Given the description of an element on the screen output the (x, y) to click on. 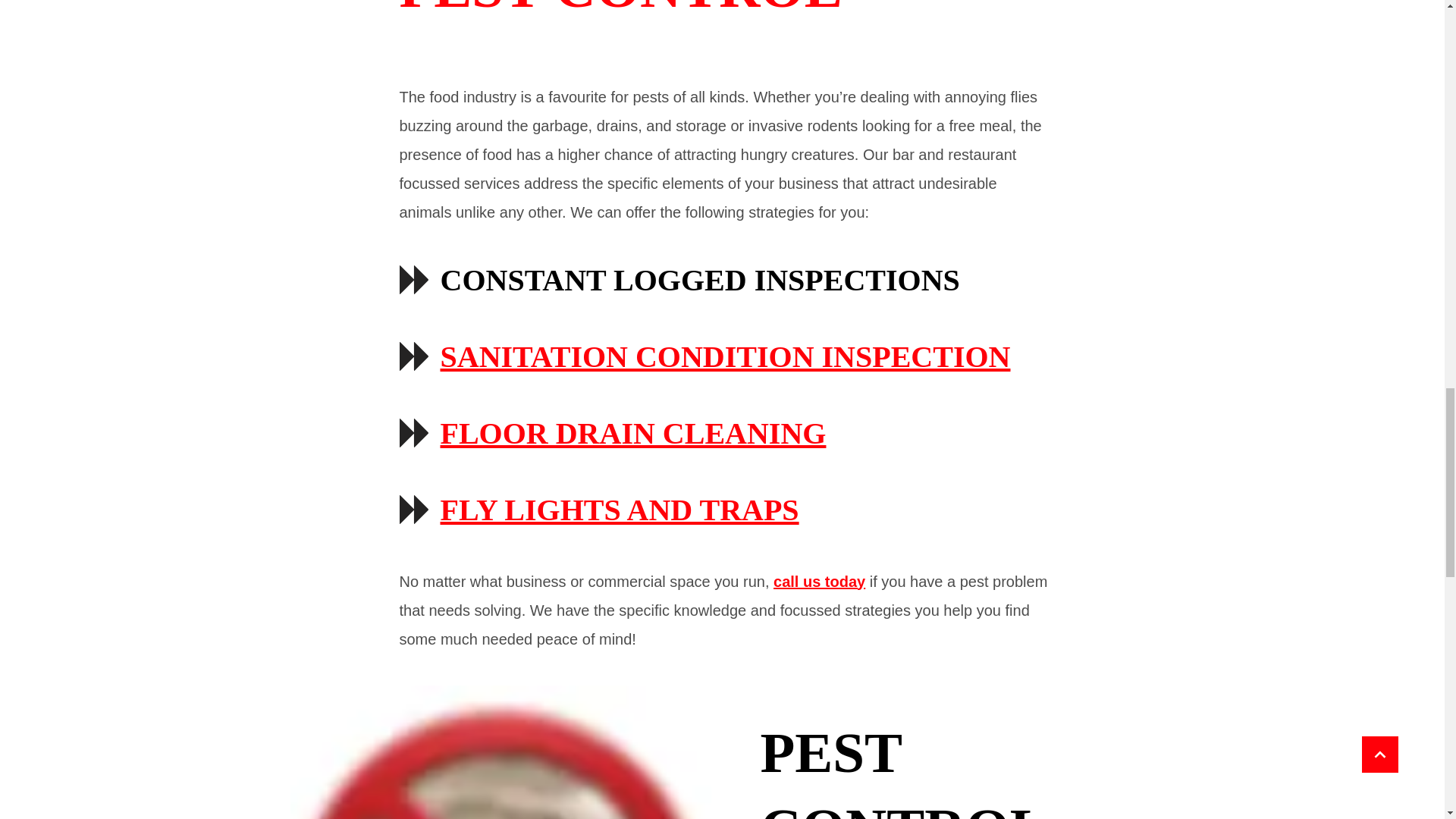
FLY LIGHTS AND TRAPS (618, 510)
call us today (816, 581)
FLOOR DRAIN CLEANING (632, 433)
SANITATION CONDITION INSPECTION (724, 356)
